Given the description of an element on the screen output the (x, y) to click on. 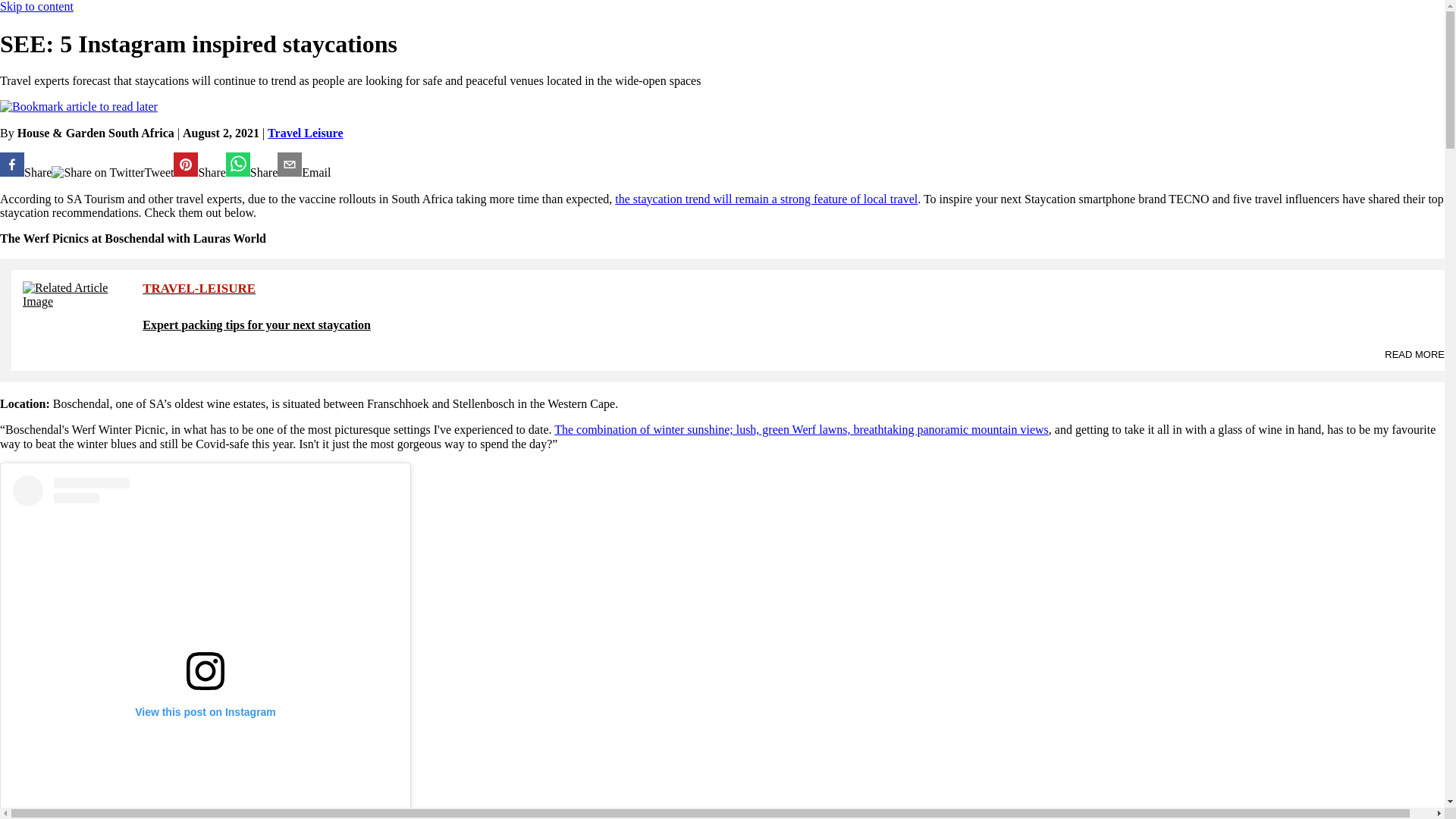
Share (251, 165)
Tweet (111, 172)
View this post on Instagram (205, 647)
SEE: 5 Instagram inspired staycations (304, 165)
SEE: 5 Instagram inspired staycations (199, 165)
Share (199, 165)
Share on Twitter (97, 172)
Share (25, 165)
Travel Leisure (304, 132)
Skip to content (37, 6)
Email (304, 165)
